Given the description of an element on the screen output the (x, y) to click on. 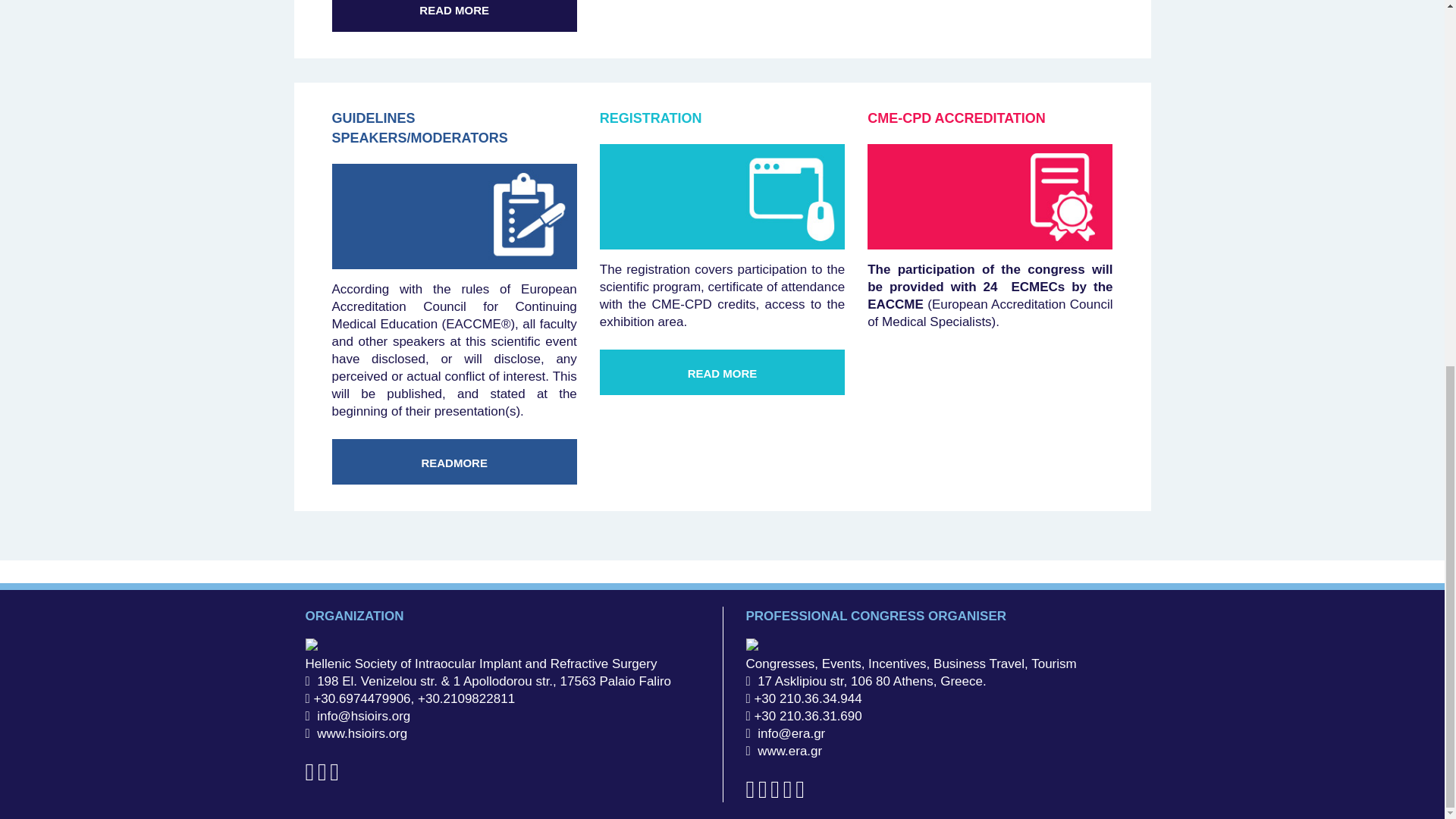
READMORE (453, 461)
READ MORE (453, 15)
READ MORE (721, 371)
 www.hsioirs.org (358, 733)
